Given the description of an element on the screen output the (x, y) to click on. 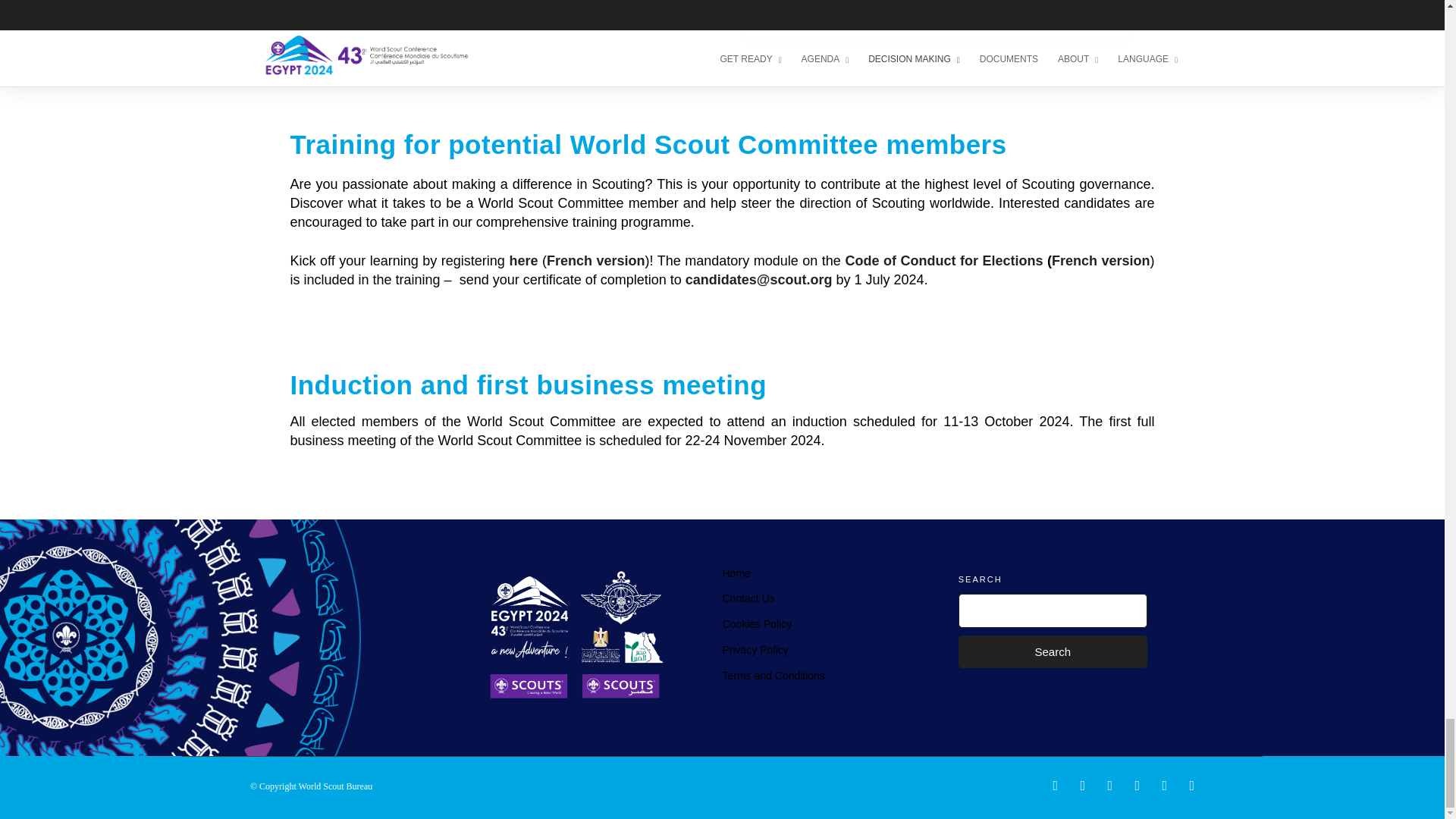
Search (1052, 651)
